Given the description of an element on the screen output the (x, y) to click on. 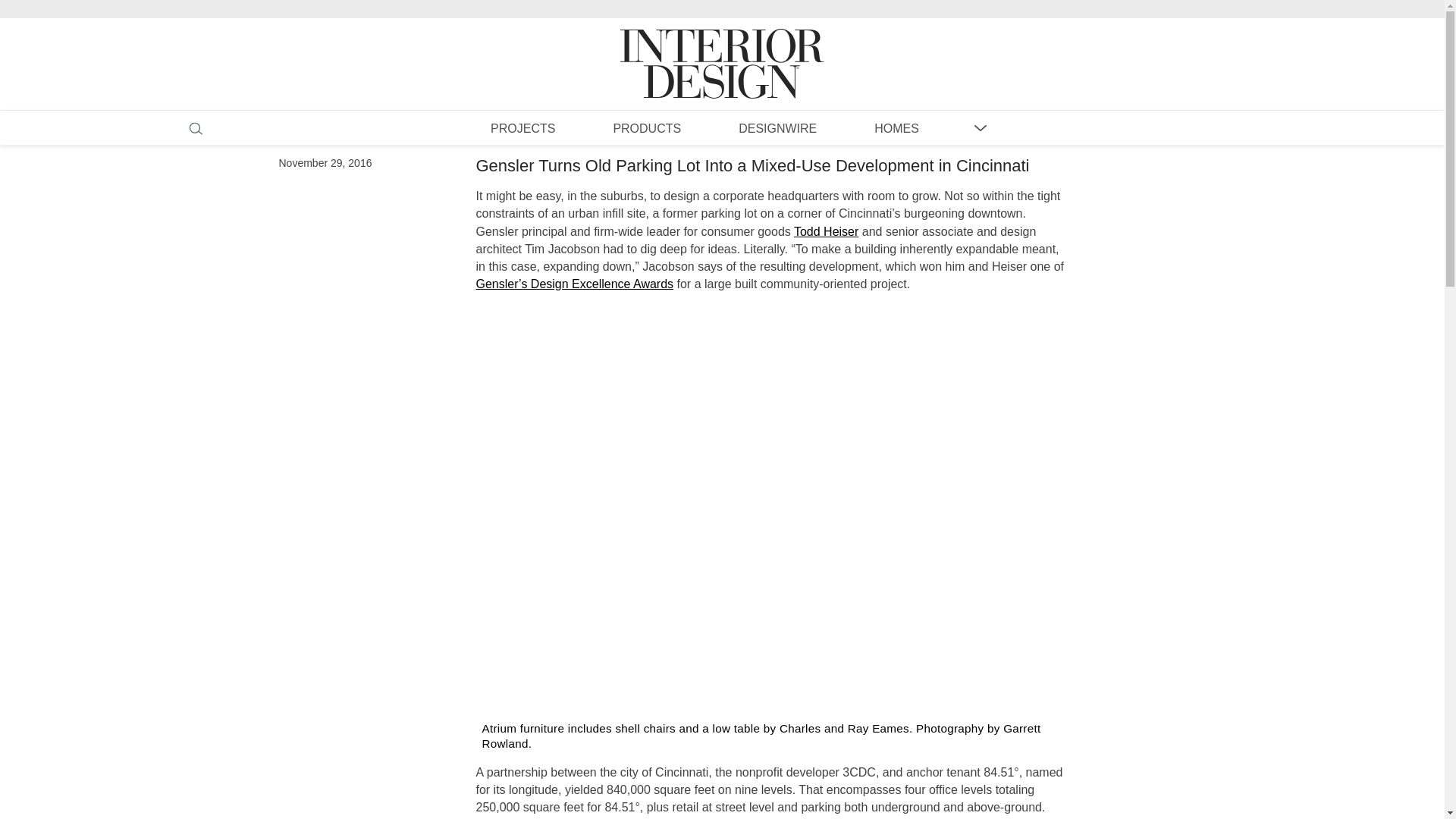
Todd Heiser (826, 231)
DESIGNWIRE (777, 127)
PROJECTS (522, 127)
PRODUCTS (646, 127)
HOMES (896, 127)
Interior Design (721, 49)
